Given the description of an element on the screen output the (x, y) to click on. 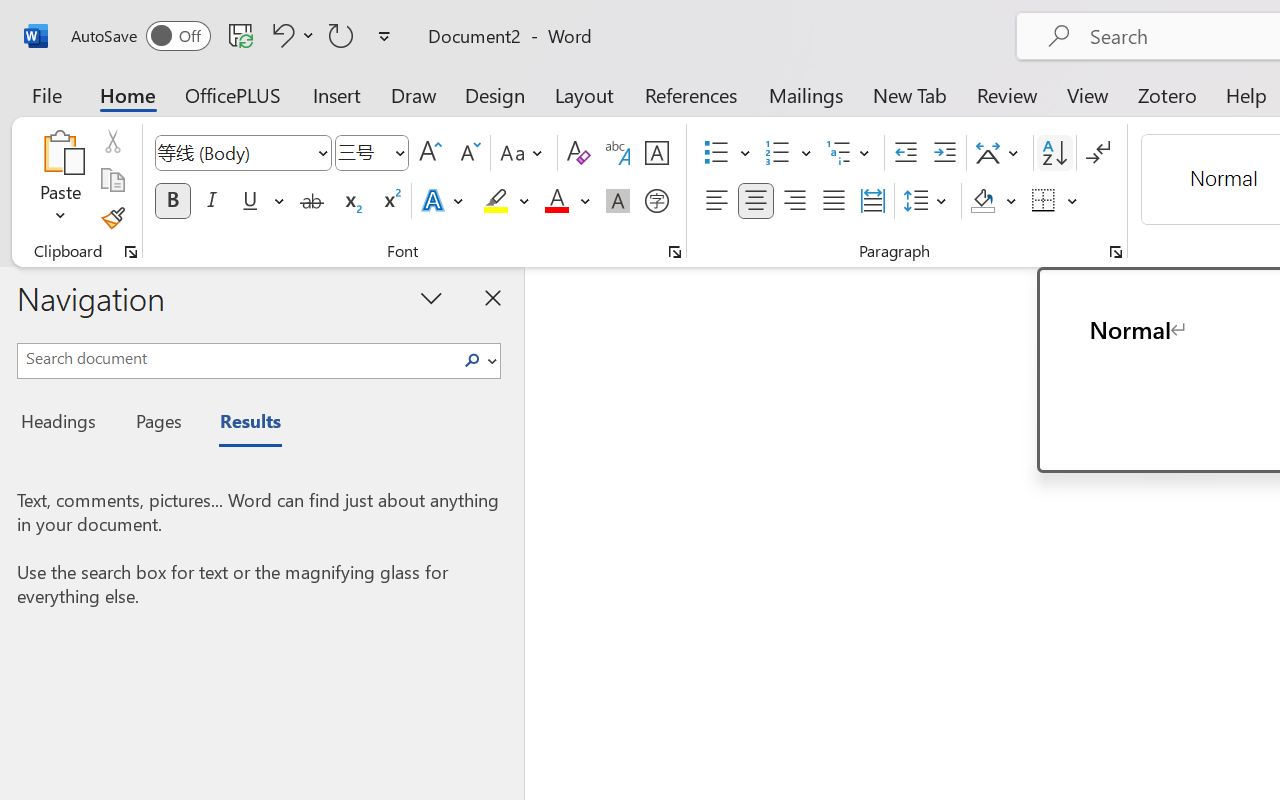
Sort... (1054, 153)
Review (1007, 94)
Phonetic Guide... (618, 153)
Show/Hide Editing Marks (1098, 153)
Justify (834, 201)
